Given the description of an element on the screen output the (x, y) to click on. 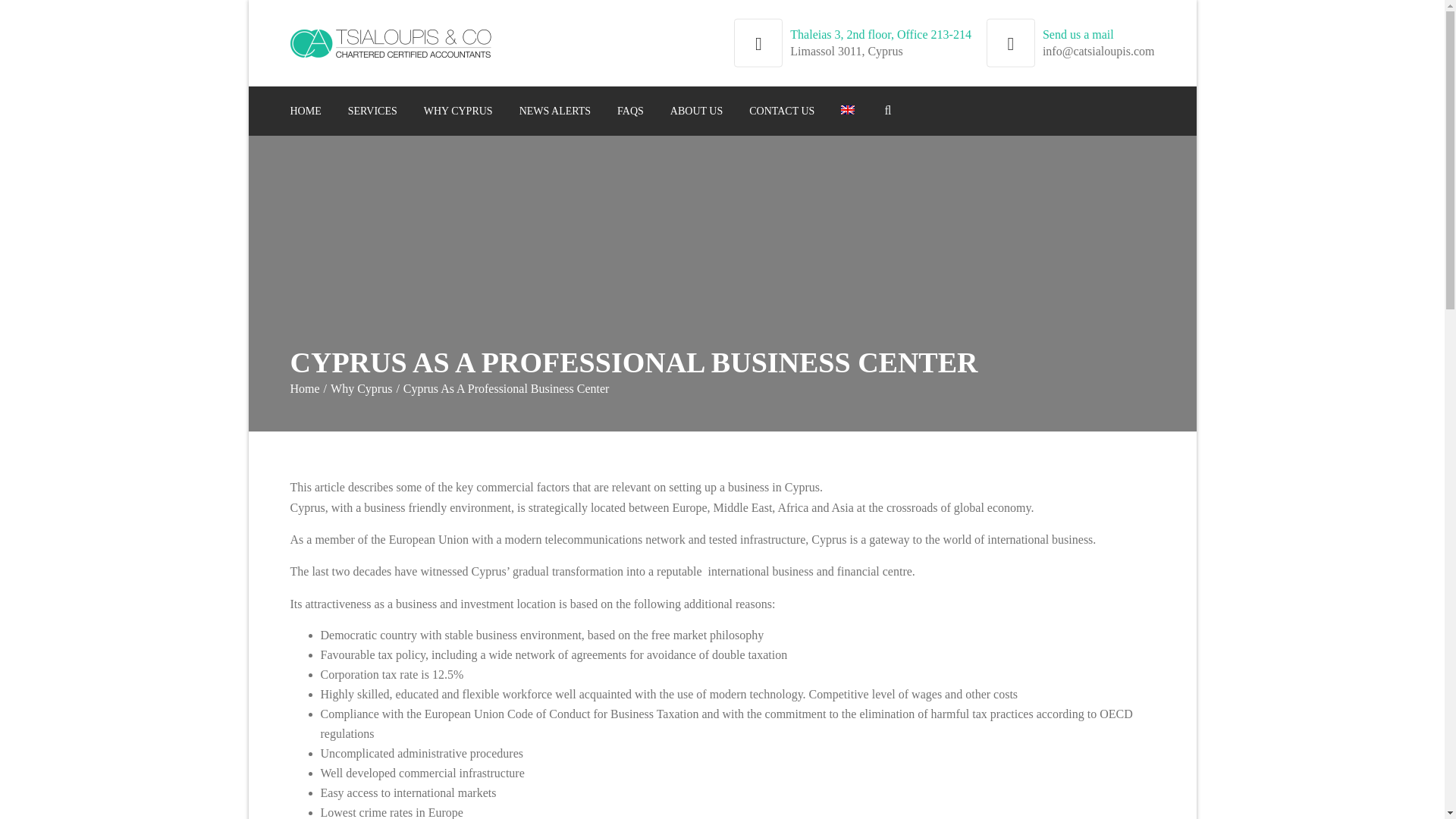
CONTACT US (781, 111)
WHY CYPRUS (458, 111)
ABOUT US (696, 111)
HOME (305, 111)
NEWS ALERTS (555, 111)
SERVICES (372, 111)
